Given the description of an element on the screen output the (x, y) to click on. 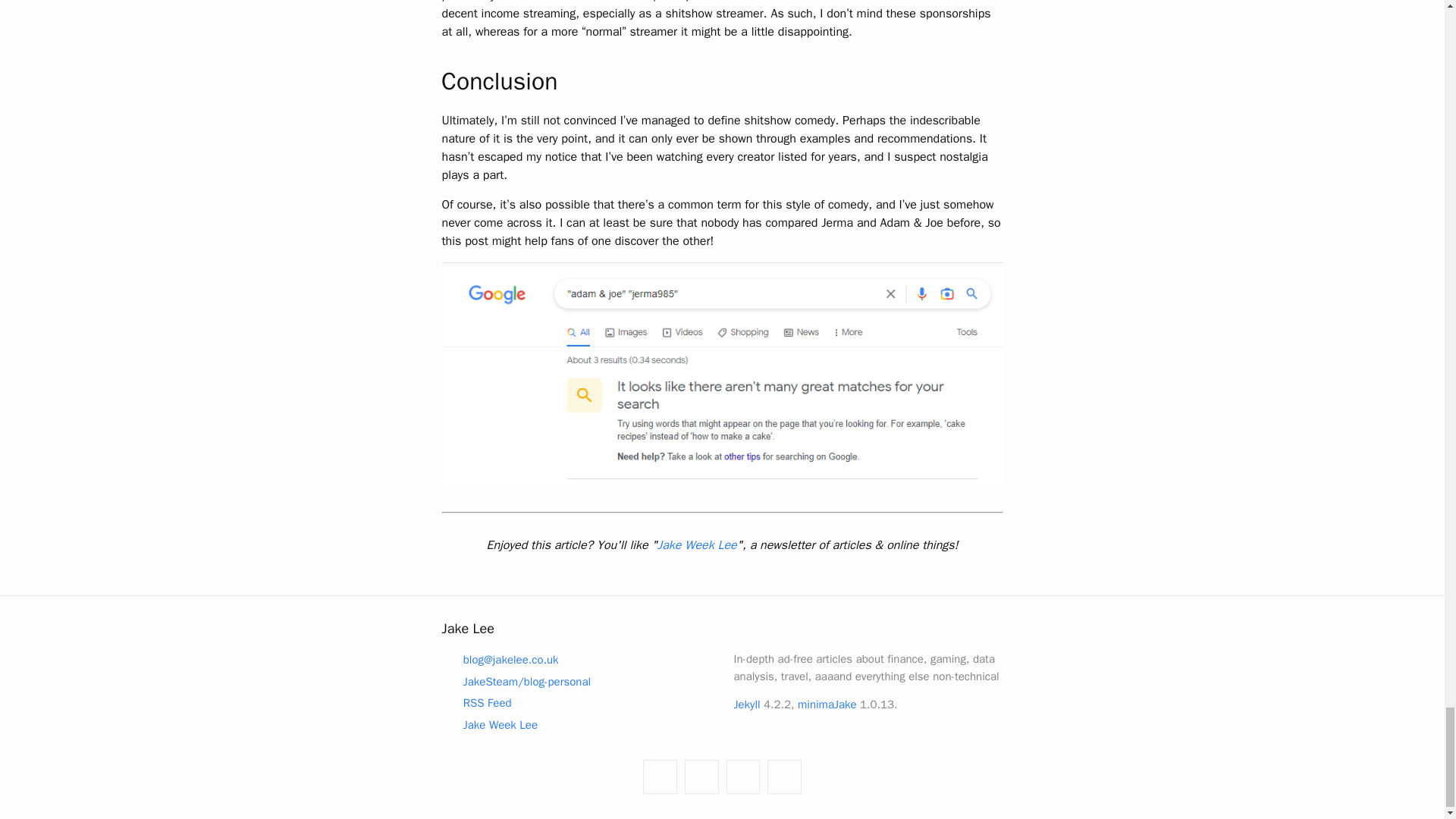
stackoverflow (743, 776)
github (660, 776)
RSS Feed (476, 702)
x (784, 776)
linkedin (701, 776)
Jake Week Lee (489, 724)
